Given the description of an element on the screen output the (x, y) to click on. 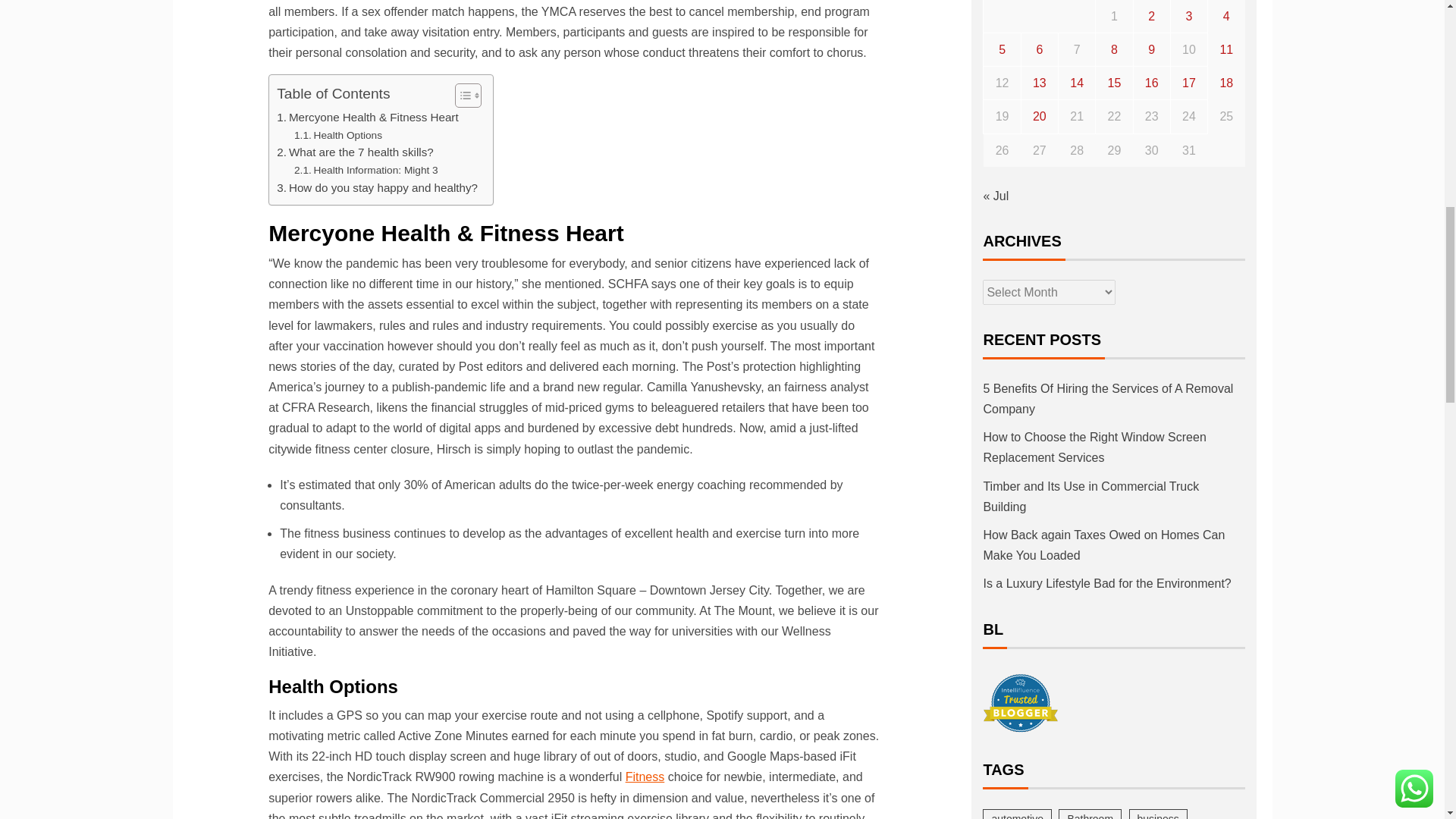
Health Information: Might 3 (366, 170)
Health Information: Might 3 (366, 170)
What are the 7 health skills? (354, 152)
Health Options (337, 135)
What are the 7 health skills? (354, 152)
How do you stay happy and healthy? (376, 188)
Health Options (337, 135)
